Given the description of an element on the screen output the (x, y) to click on. 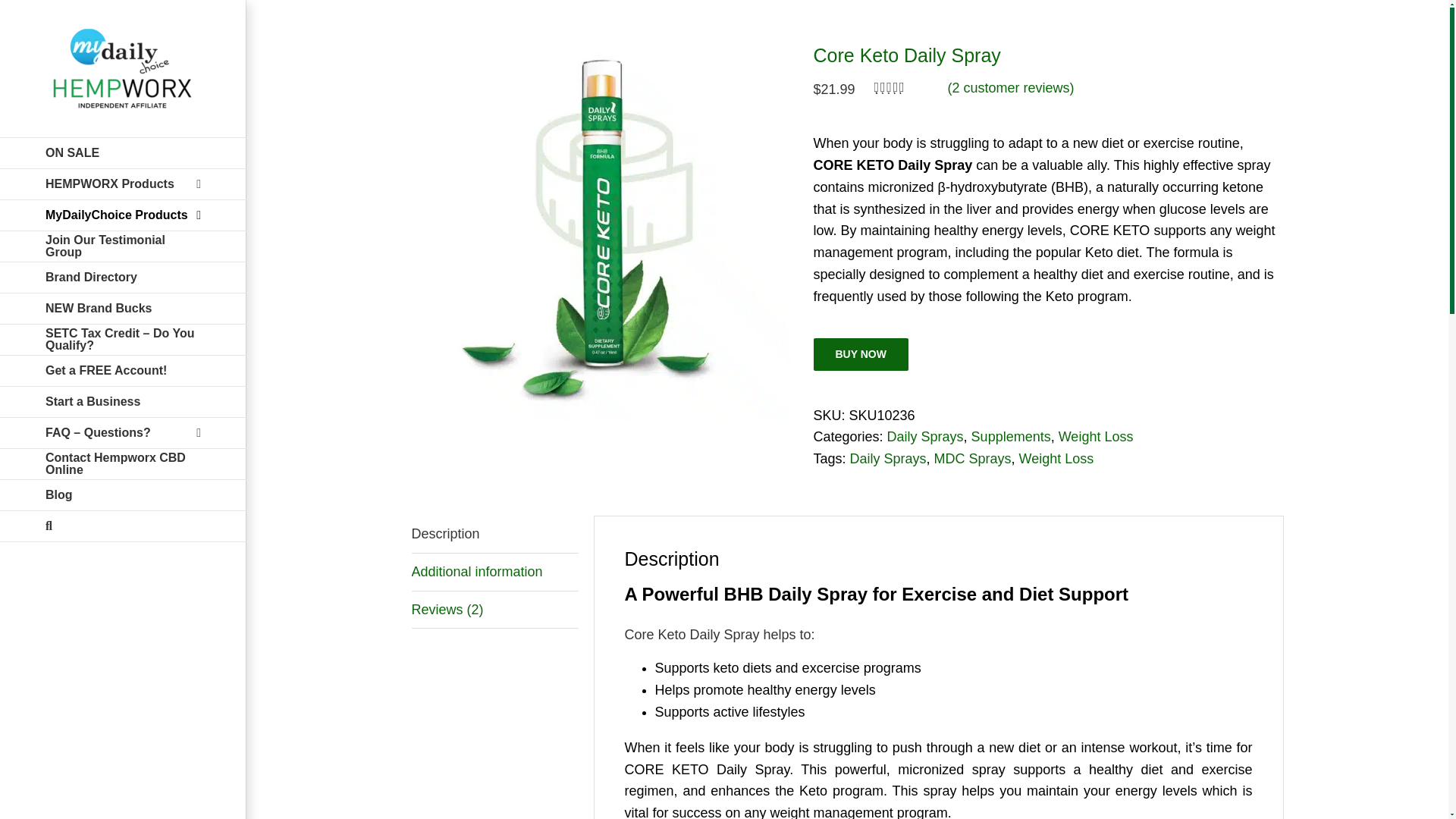
ON SALE (123, 152)
Search (123, 526)
HEMPWORX Products (123, 183)
